Given the description of an element on the screen output the (x, y) to click on. 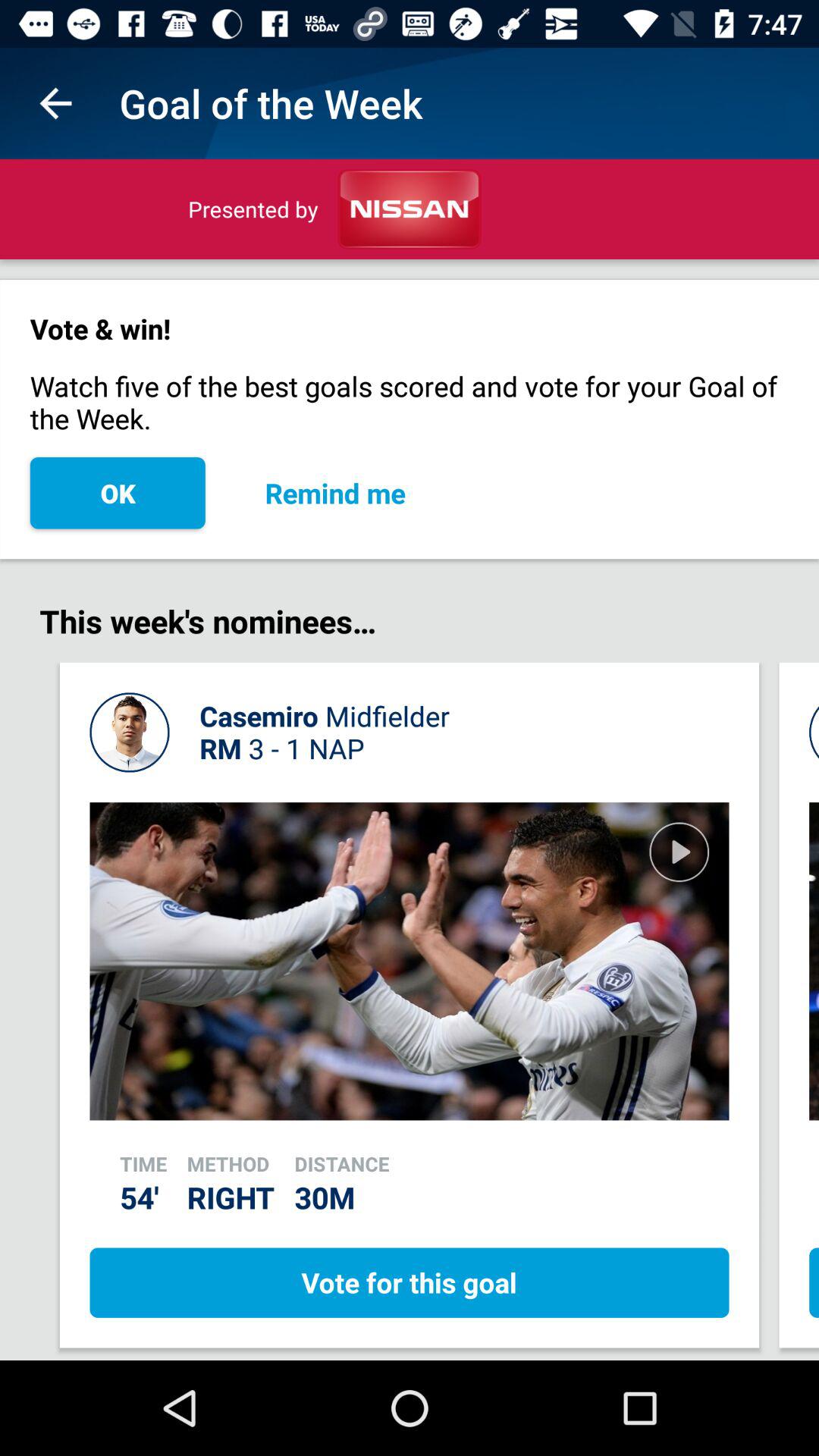
launch icon to the left of remind me icon (117, 492)
